Given the description of an element on the screen output the (x, y) to click on. 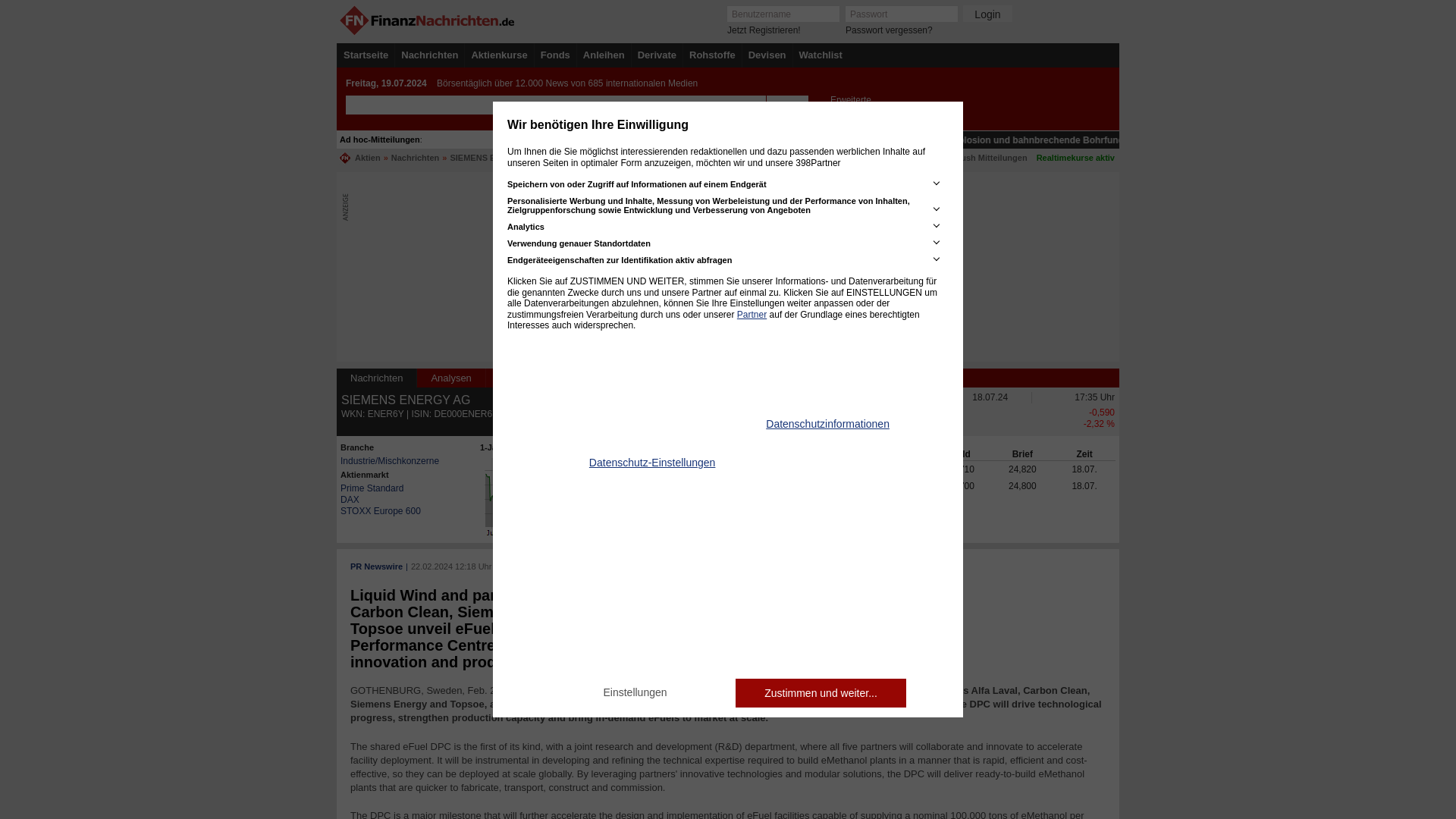
Nachrichten (429, 55)
Passwort vergessen? (889, 30)
Login (986, 13)
Suchen (786, 104)
Startseite (365, 55)
Jetzt Registrieren! (763, 30)
